Given the description of an element on the screen output the (x, y) to click on. 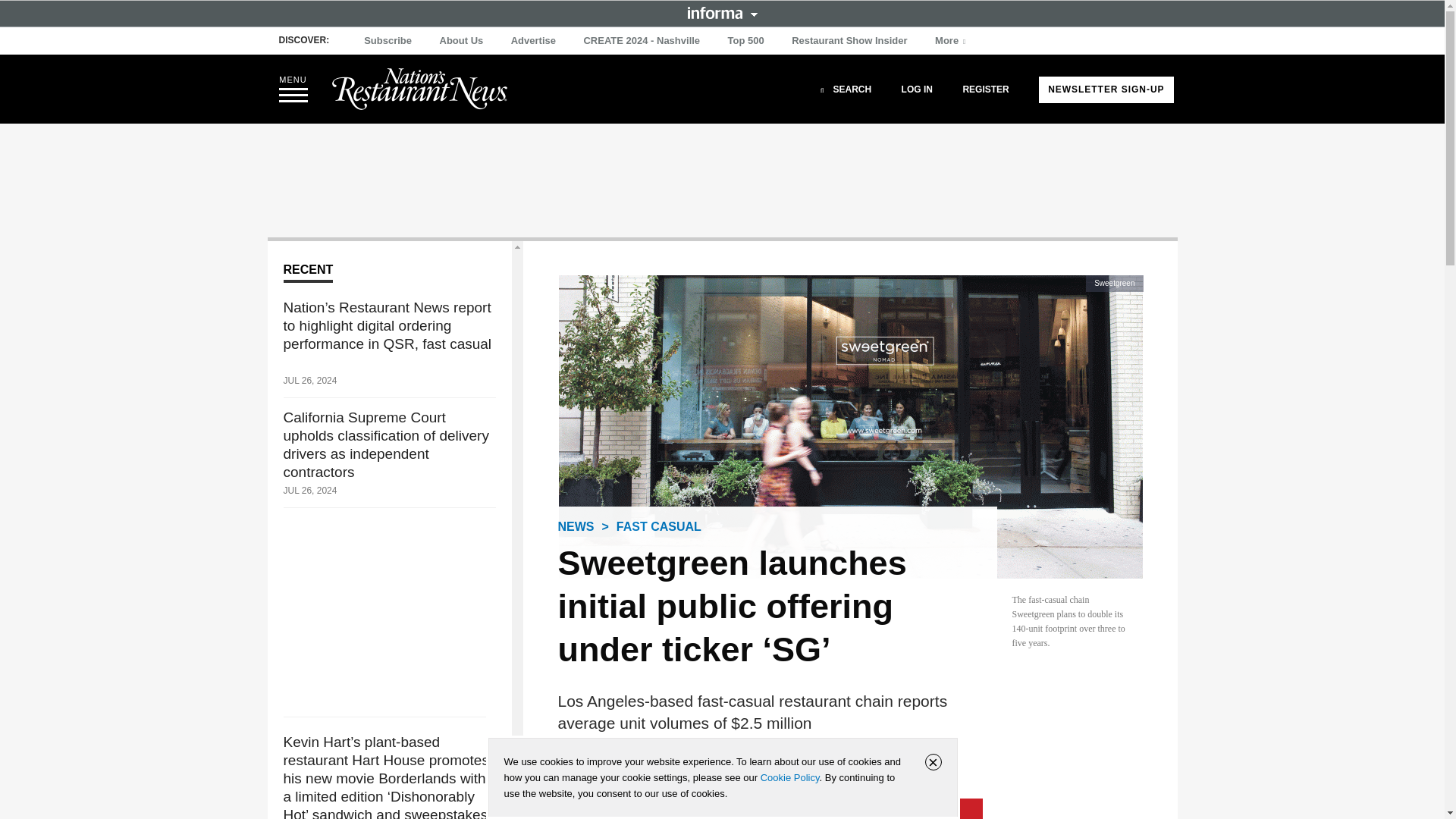
INFORMA (722, 12)
About Us (461, 41)
Restaurant Show Insider (849, 41)
Cookie Policy (789, 777)
CREATE 2024 - Nashville (641, 41)
More (951, 41)
Advertise (533, 41)
Top 500 (746, 41)
Subscribe (387, 41)
